Given the description of an element on the screen output the (x, y) to click on. 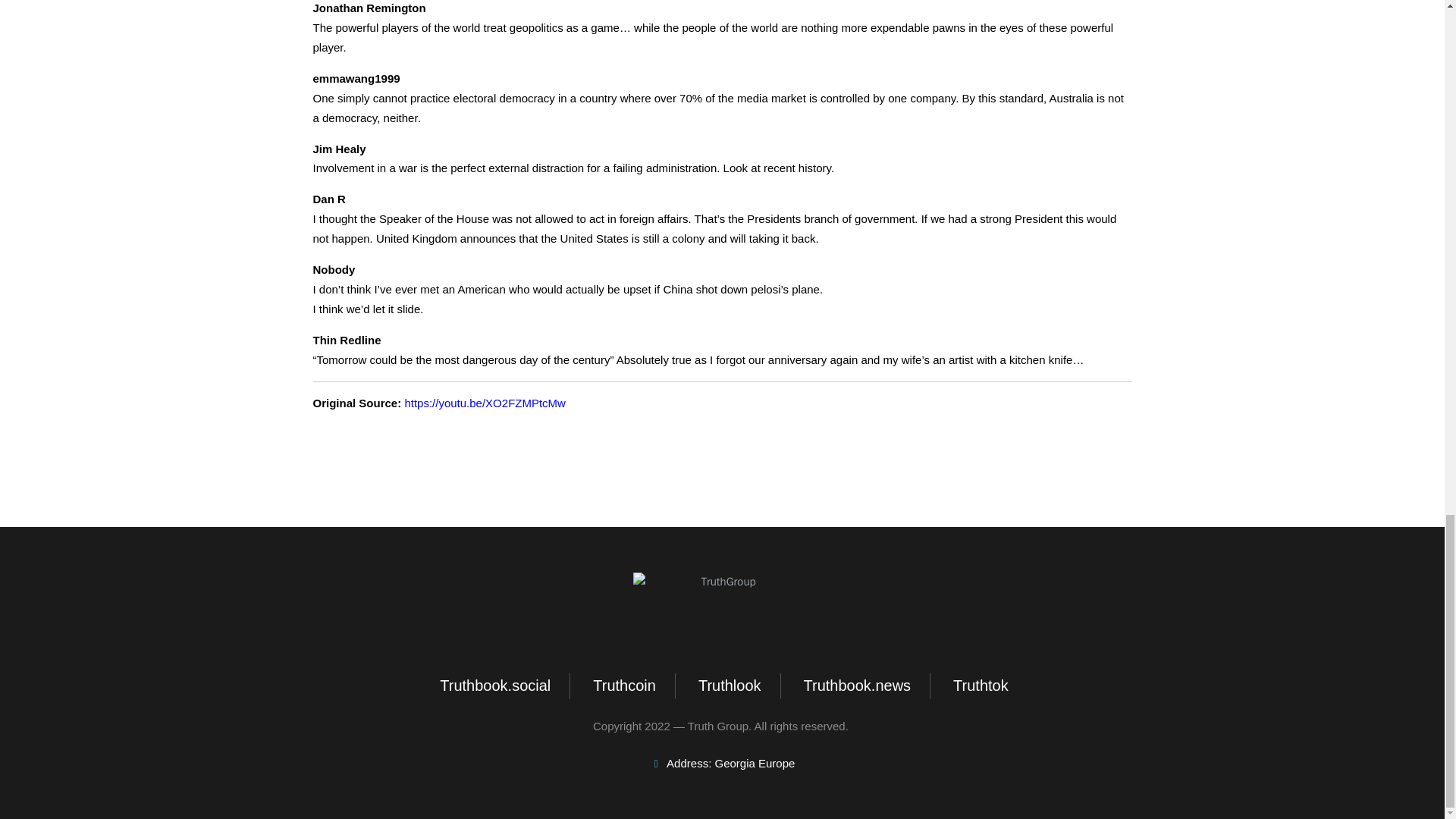
Truthbook.social (492, 685)
Truthbook.news (855, 685)
Truthlook (727, 685)
Truthtok (979, 685)
Truthcoin (622, 685)
